Given the description of an element on the screen output the (x, y) to click on. 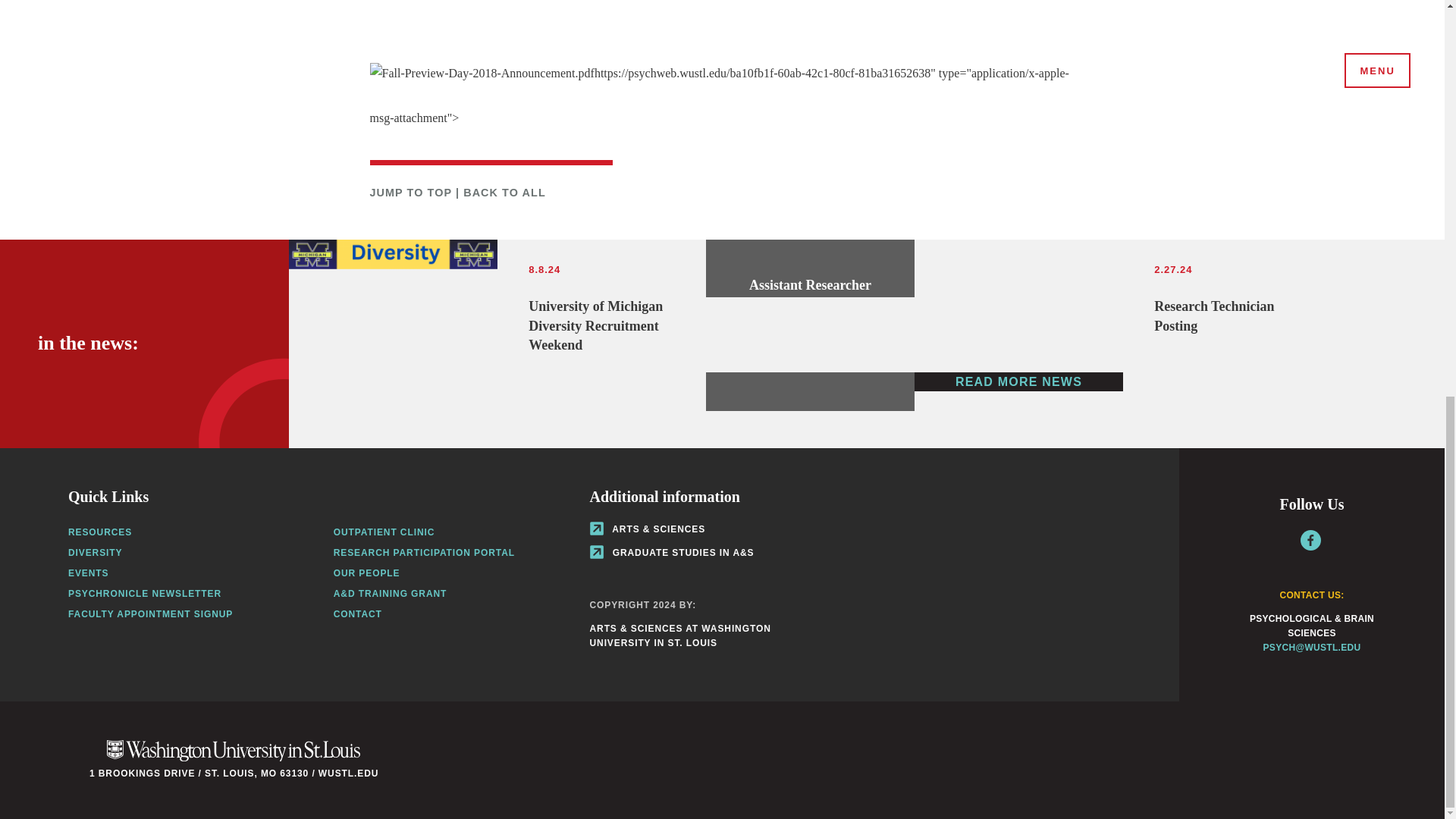
RESOURCES (497, 343)
BACK TO ALL (100, 532)
EVENTS (504, 192)
JUMP TO TOP (87, 573)
FACULTY APPOINTMENT SIGNUP (410, 192)
DIVERSITY (1123, 305)
READ MORE NEWS (150, 614)
